Given the description of an element on the screen output the (x, y) to click on. 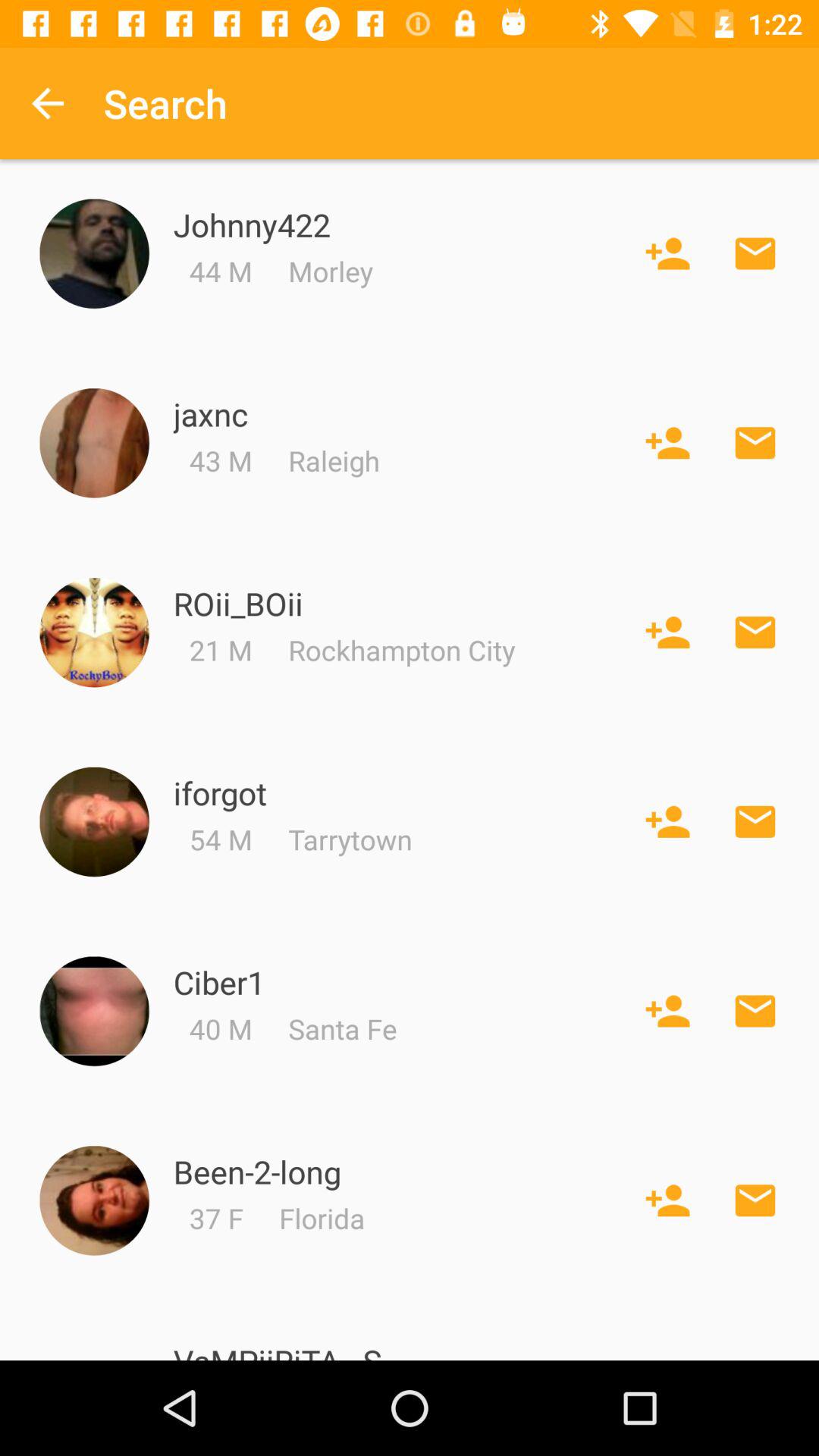
profile picture (94, 253)
